Given the description of an element on the screen output the (x, y) to click on. 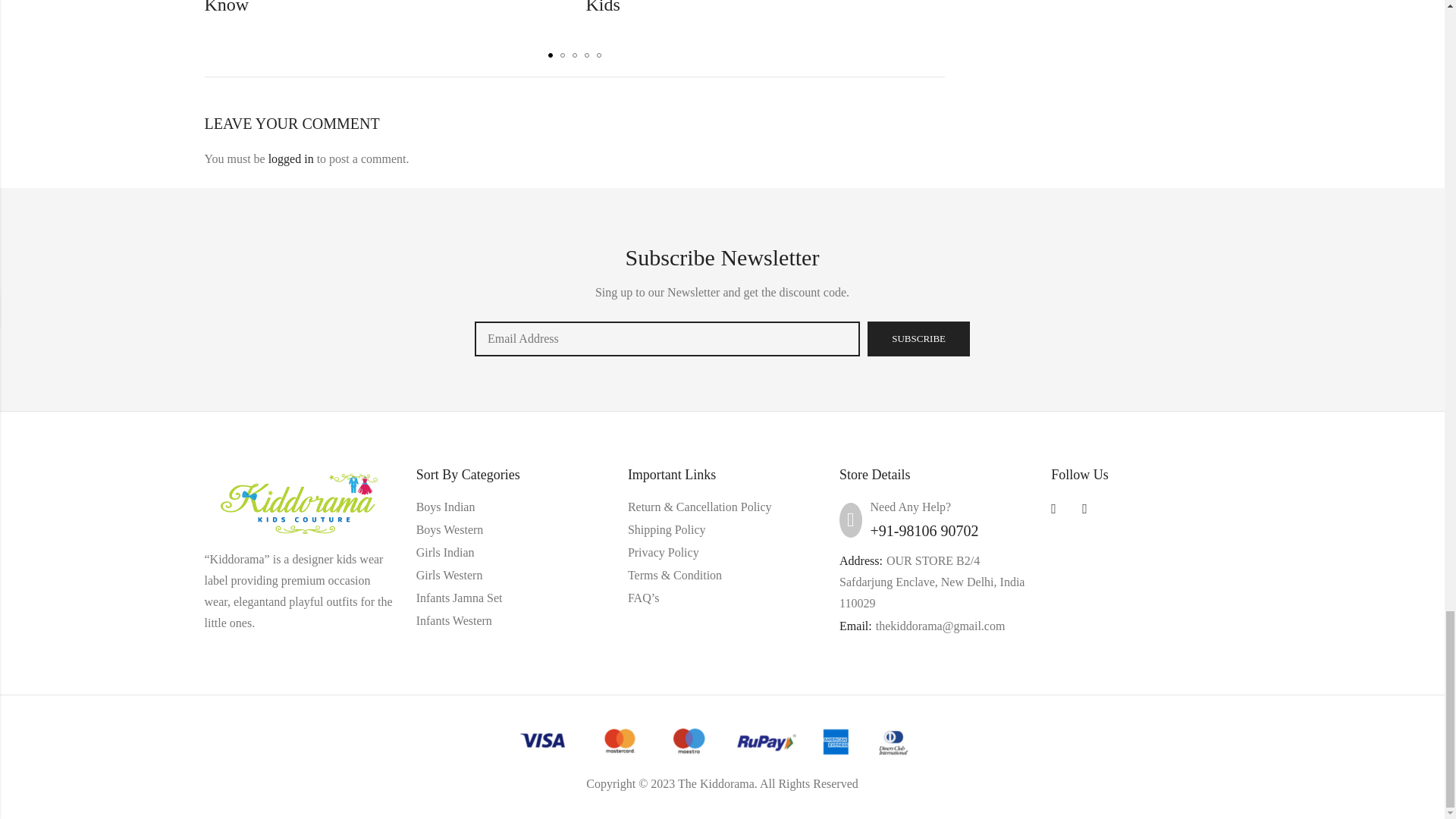
Subscribe (918, 338)
